Given the description of an element on the screen output the (x, y) to click on. 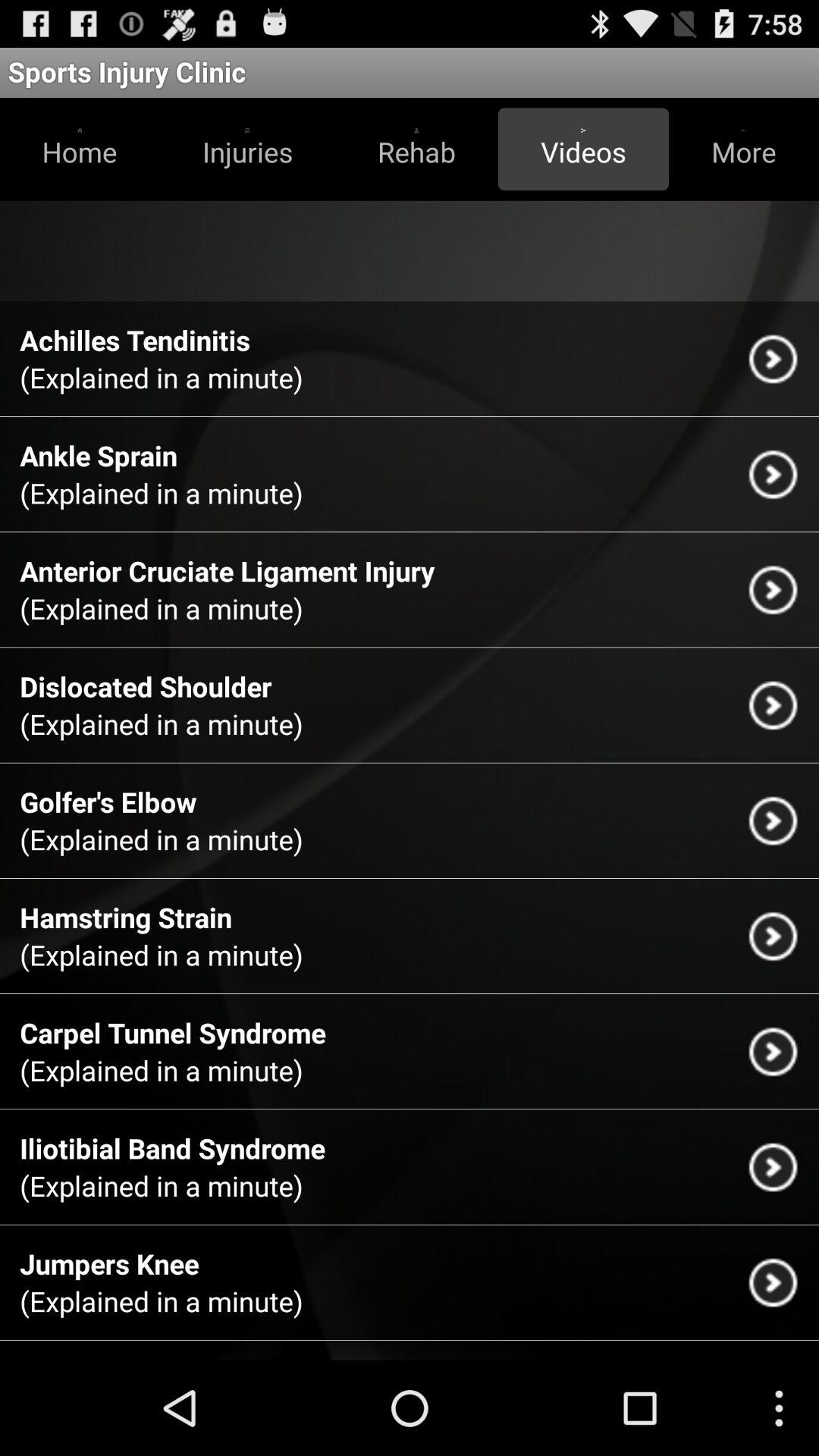
turn on the item below the explained in a icon (125, 917)
